Given the description of an element on the screen output the (x, y) to click on. 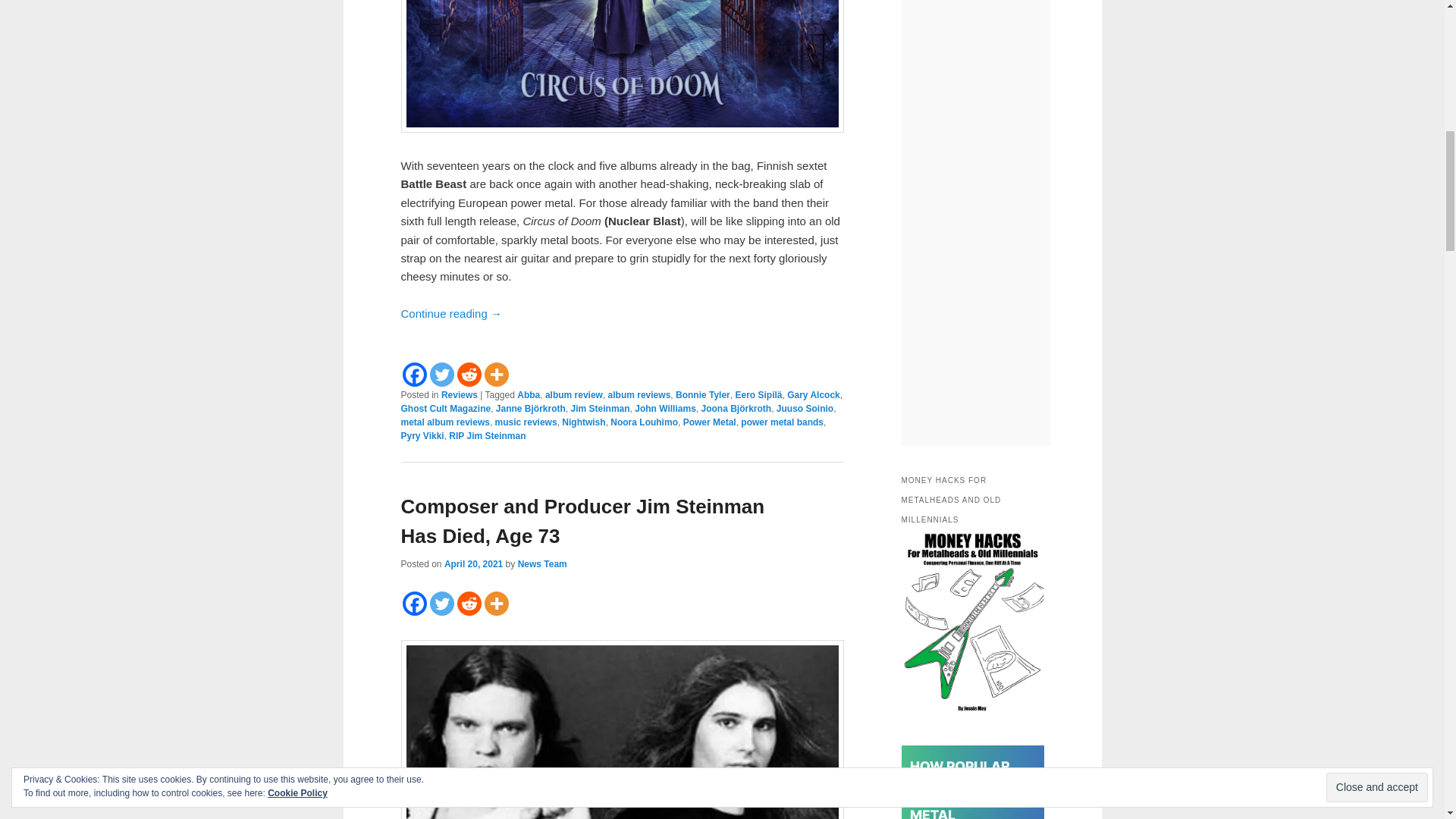
Abba (528, 394)
Reddit (468, 374)
album reviews (639, 394)
Twitter (440, 374)
More (495, 374)
album review (573, 394)
Bonnie Tyler (702, 394)
Facebook (413, 374)
Reviews (459, 394)
